Given the description of an element on the screen output the (x, y) to click on. 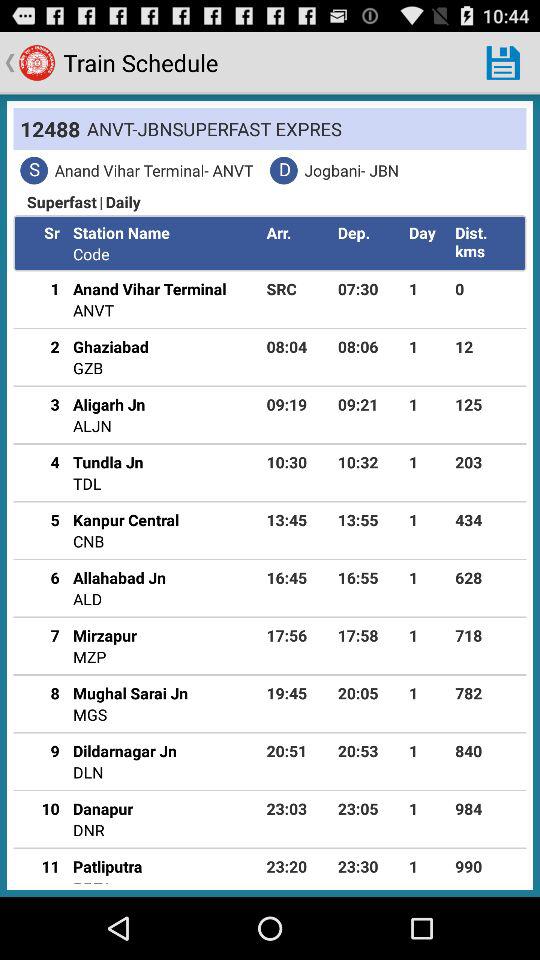
select the app below the ghaziabad app (88, 367)
